Given the description of an element on the screen output the (x, y) to click on. 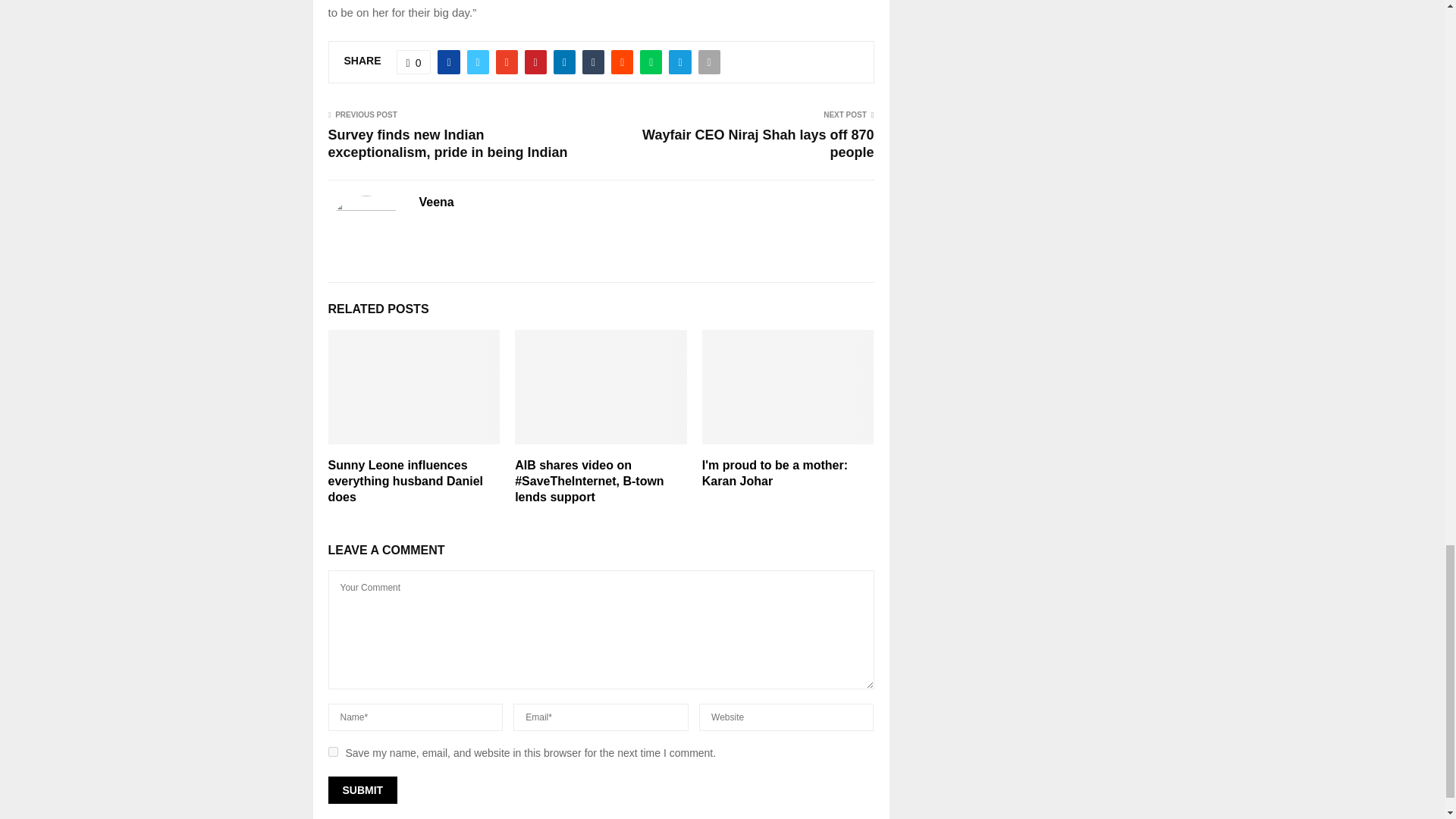
Submit (362, 789)
yes (332, 751)
